Given the description of an element on the screen output the (x, y) to click on. 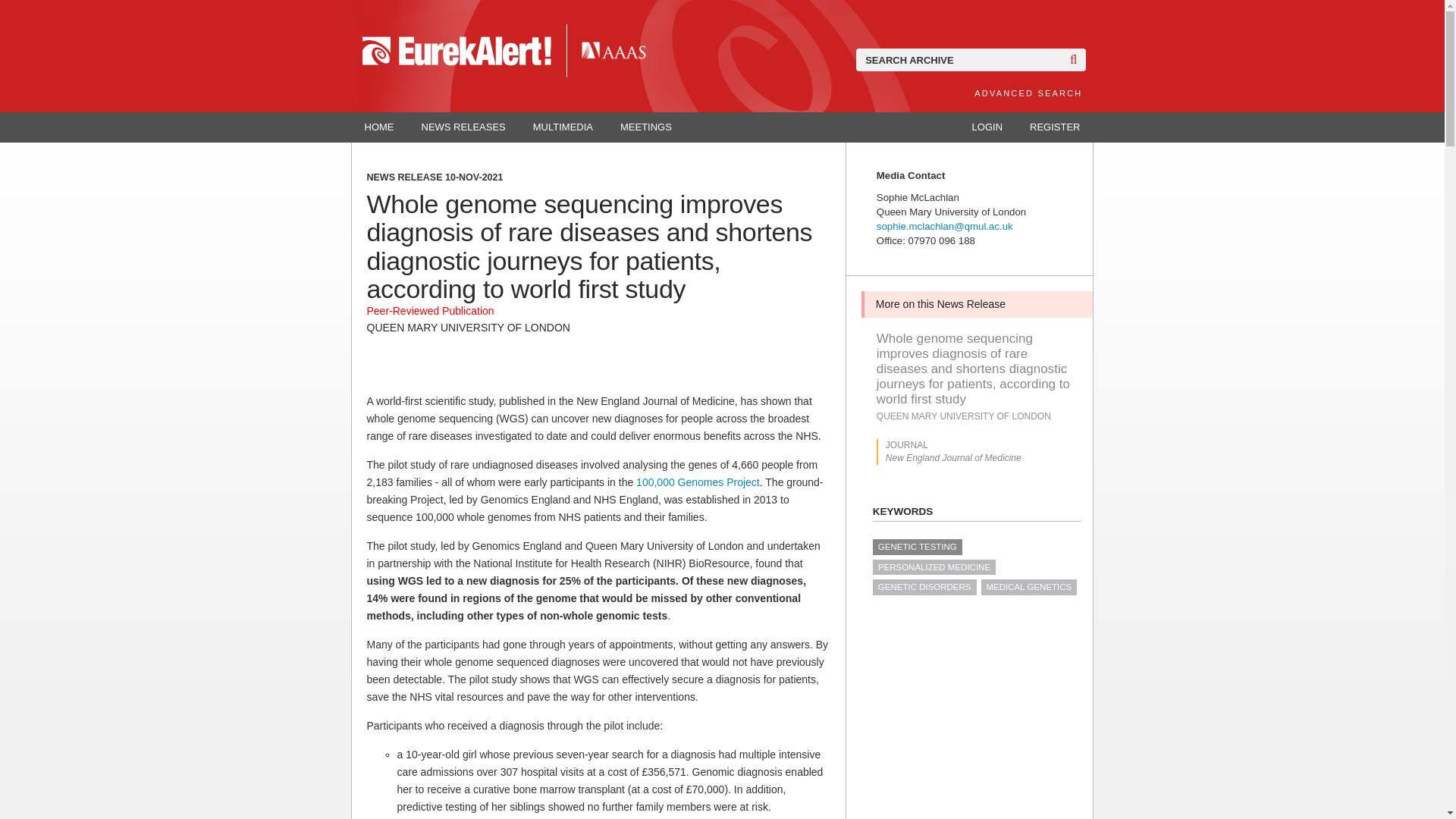
ADVANCED SEARCH (1027, 92)
100,000 Genomes Project (698, 481)
LOGIN (987, 127)
REGISTER (1054, 127)
HOME (378, 127)
MEETINGS (646, 127)
PERSONALIZED MEDICINE (933, 566)
Peer-Reviewed Publication (430, 310)
MULTIMEDIA (563, 127)
NEWS RELEASES (463, 127)
GENETIC DISORDERS (924, 586)
MEDICAL GENETICS (1029, 586)
GENETIC TESTING (917, 546)
